Given the description of an element on the screen output the (x, y) to click on. 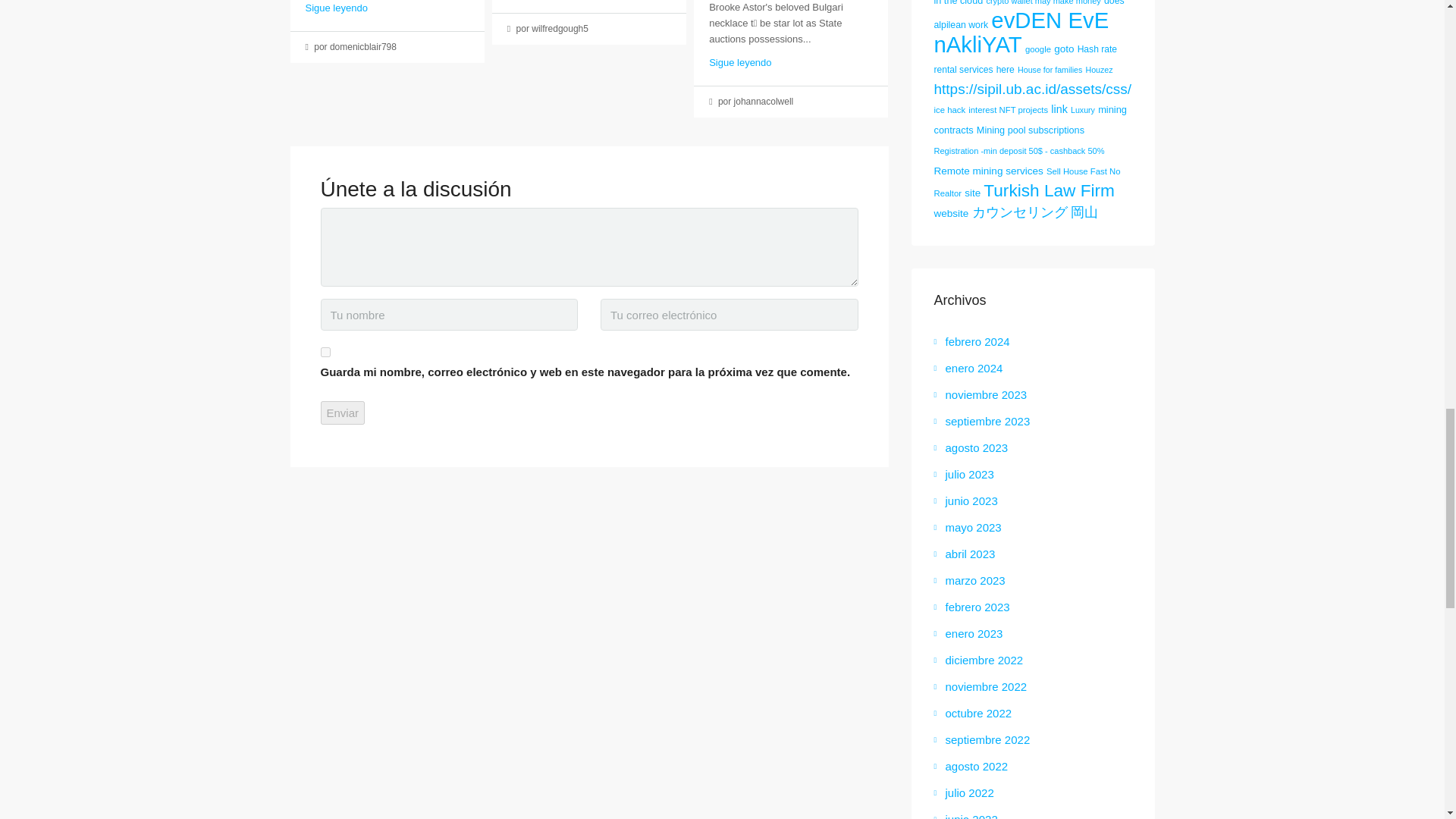
Enviar (342, 413)
yes (325, 352)
Enviar (342, 413)
Sigue leyendo (740, 61)
Sigue leyendo (335, 7)
